Given the description of an element on the screen output the (x, y) to click on. 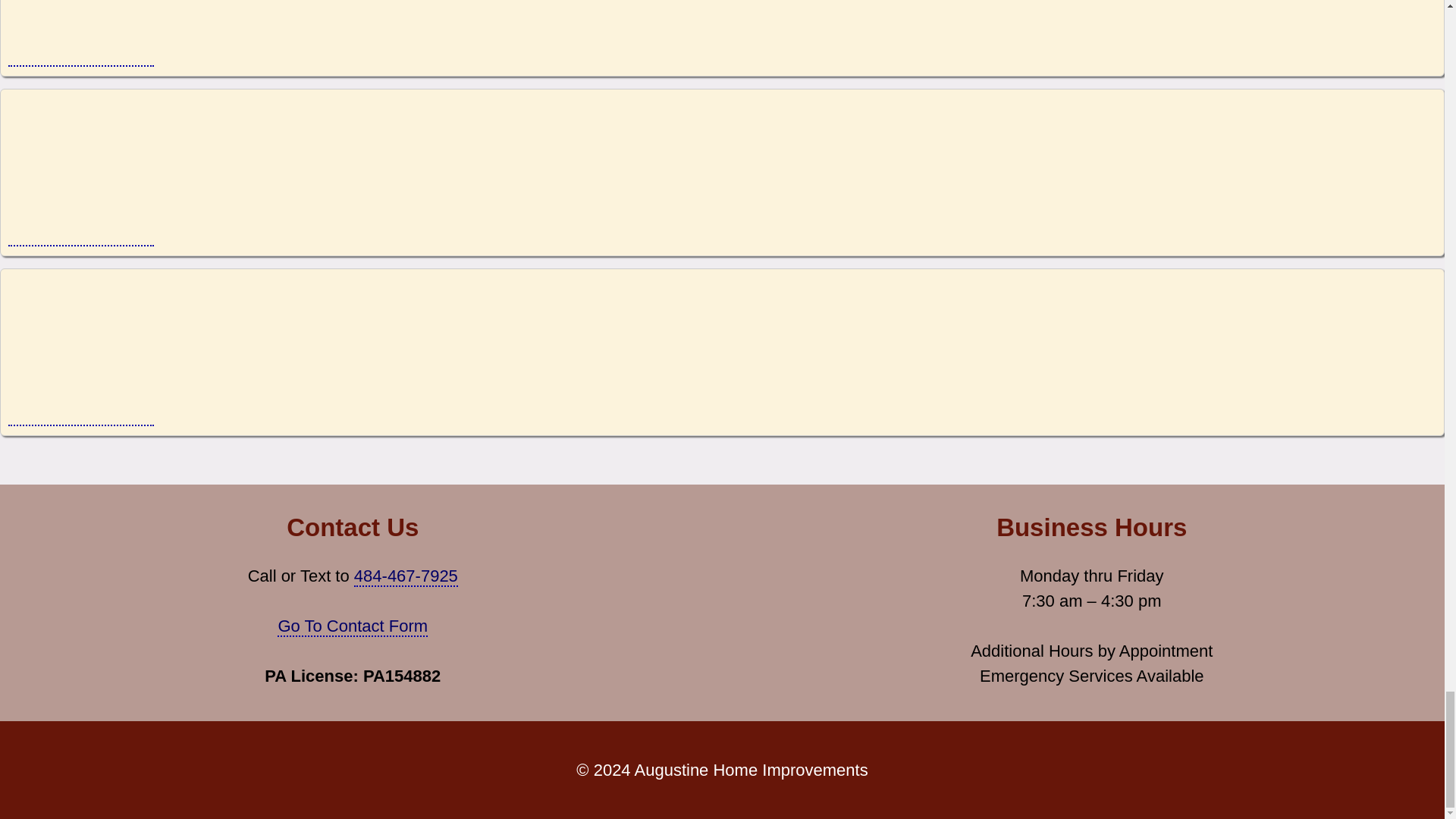
484-467-7925 (405, 576)
Go To Contact Form (353, 626)
